Given the description of an element on the screen output the (x, y) to click on. 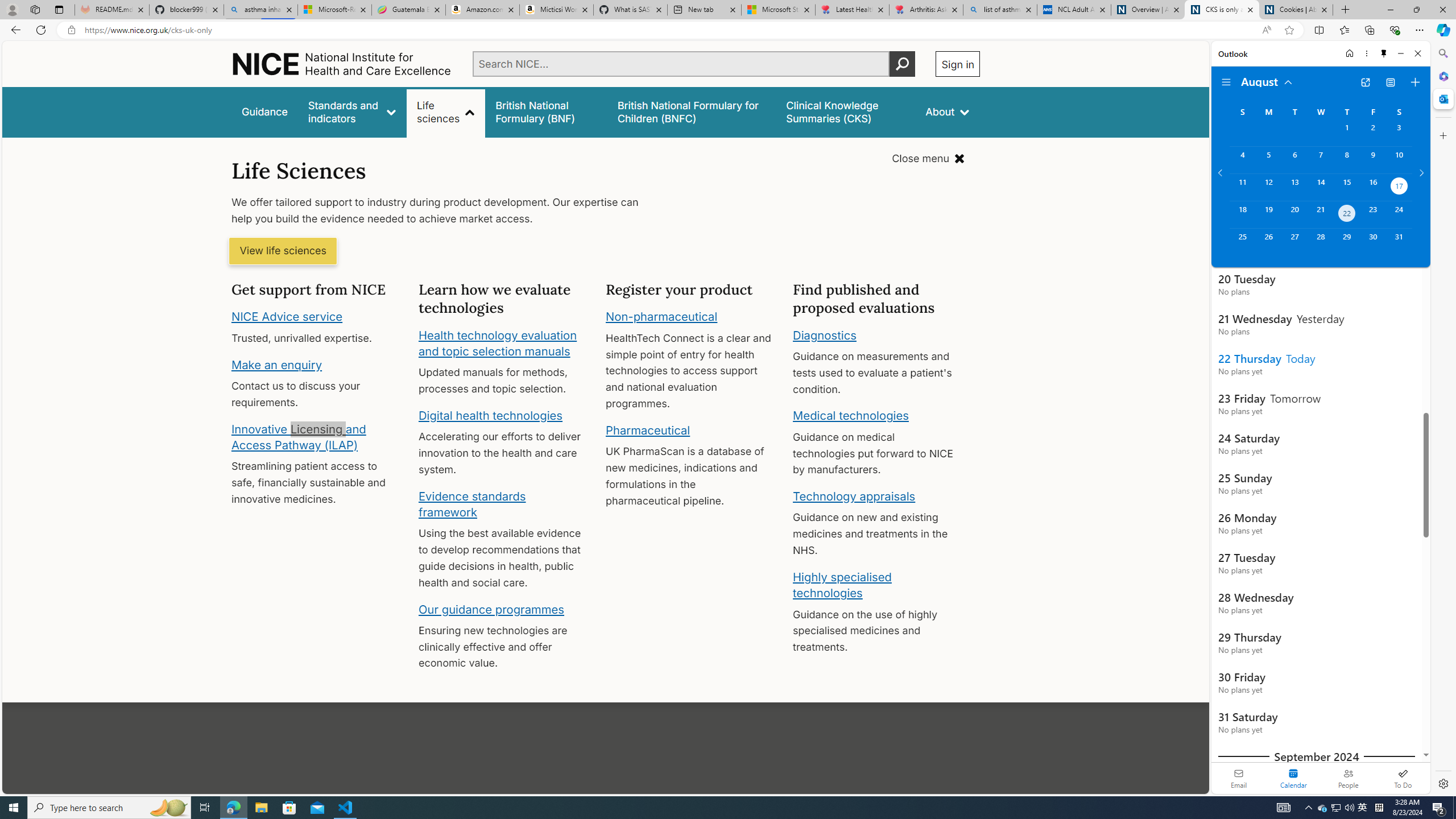
NCL Adult Asthma Inhaler Choice Guideline (1073, 9)
Highly specialised technologies (842, 584)
Create event (1414, 82)
About (947, 111)
Sign in (957, 63)
Make an enquiry (276, 364)
Thursday, August 8, 2024.  (1346, 159)
